Given the description of an element on the screen output the (x, y) to click on. 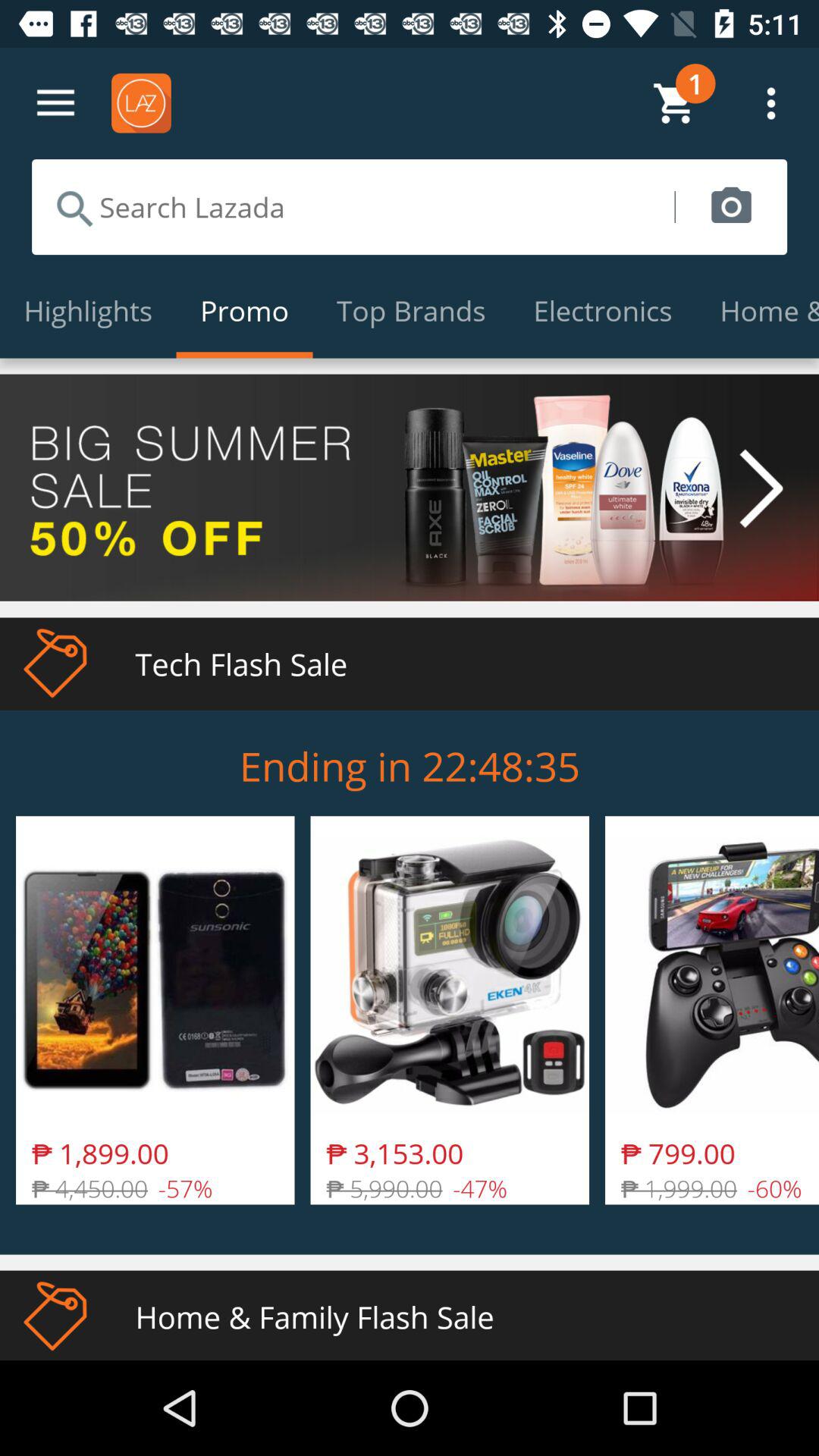
discount (409, 487)
